Given the description of an element on the screen output the (x, y) to click on. 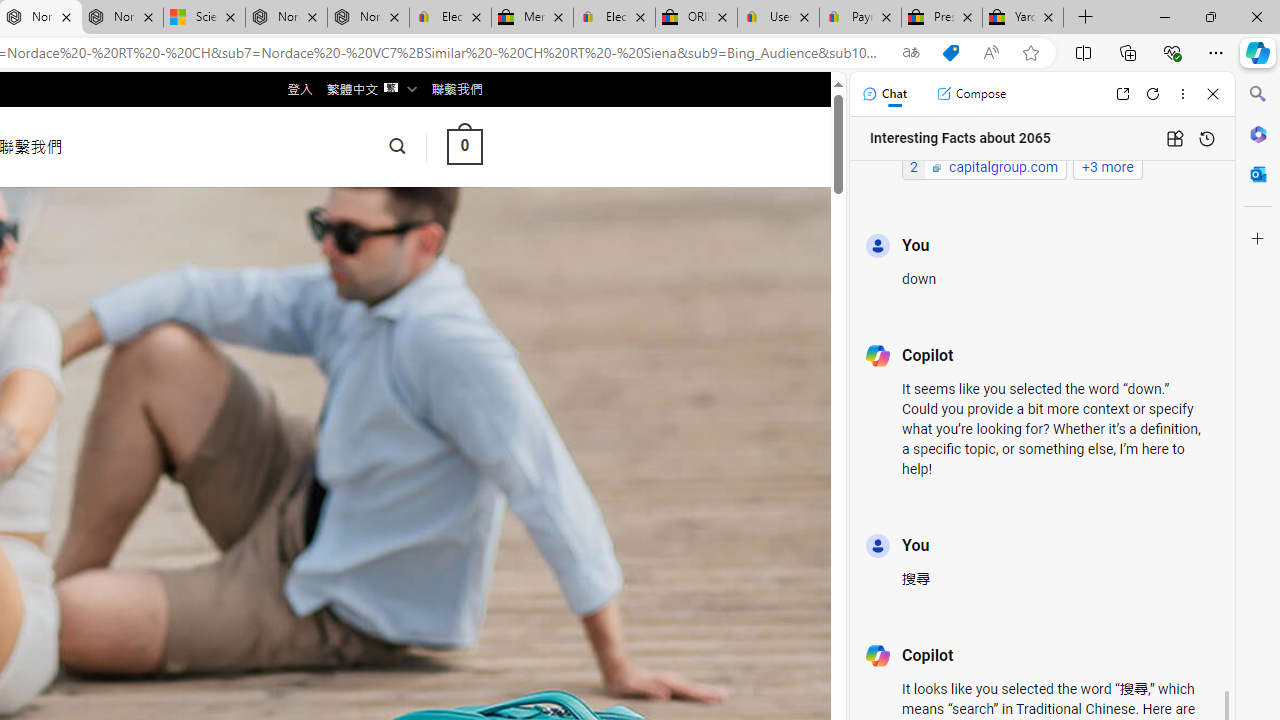
Payments Terms of Use | eBay.com (860, 17)
Press Room - eBay Inc. (941, 17)
Outlook (1258, 174)
  0   (464, 146)
Open link in new tab (1122, 93)
